Given the description of an element on the screen output the (x, y) to click on. 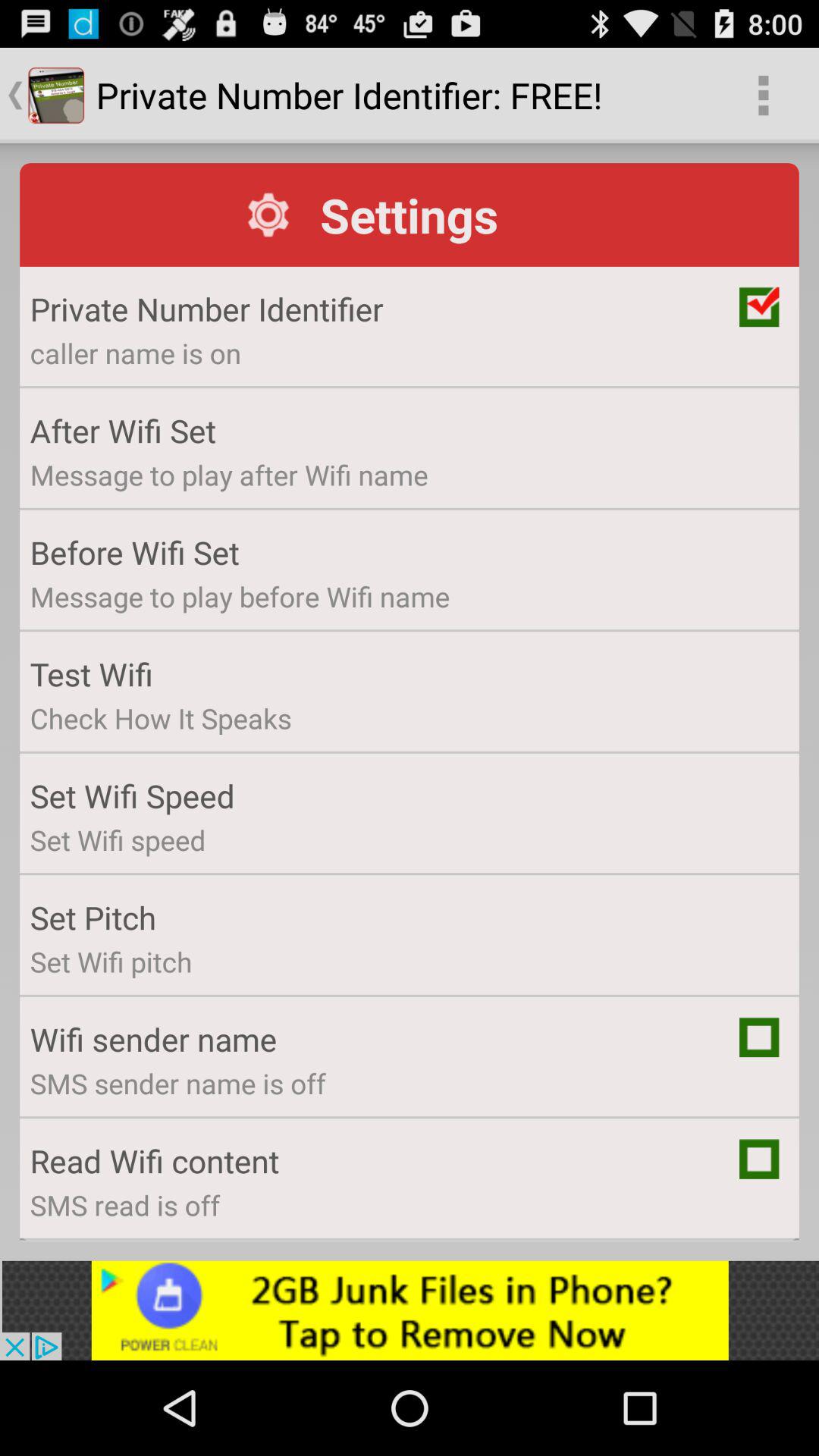
sms read on/off (759, 1159)
